Given the description of an element on the screen output the (x, y) to click on. 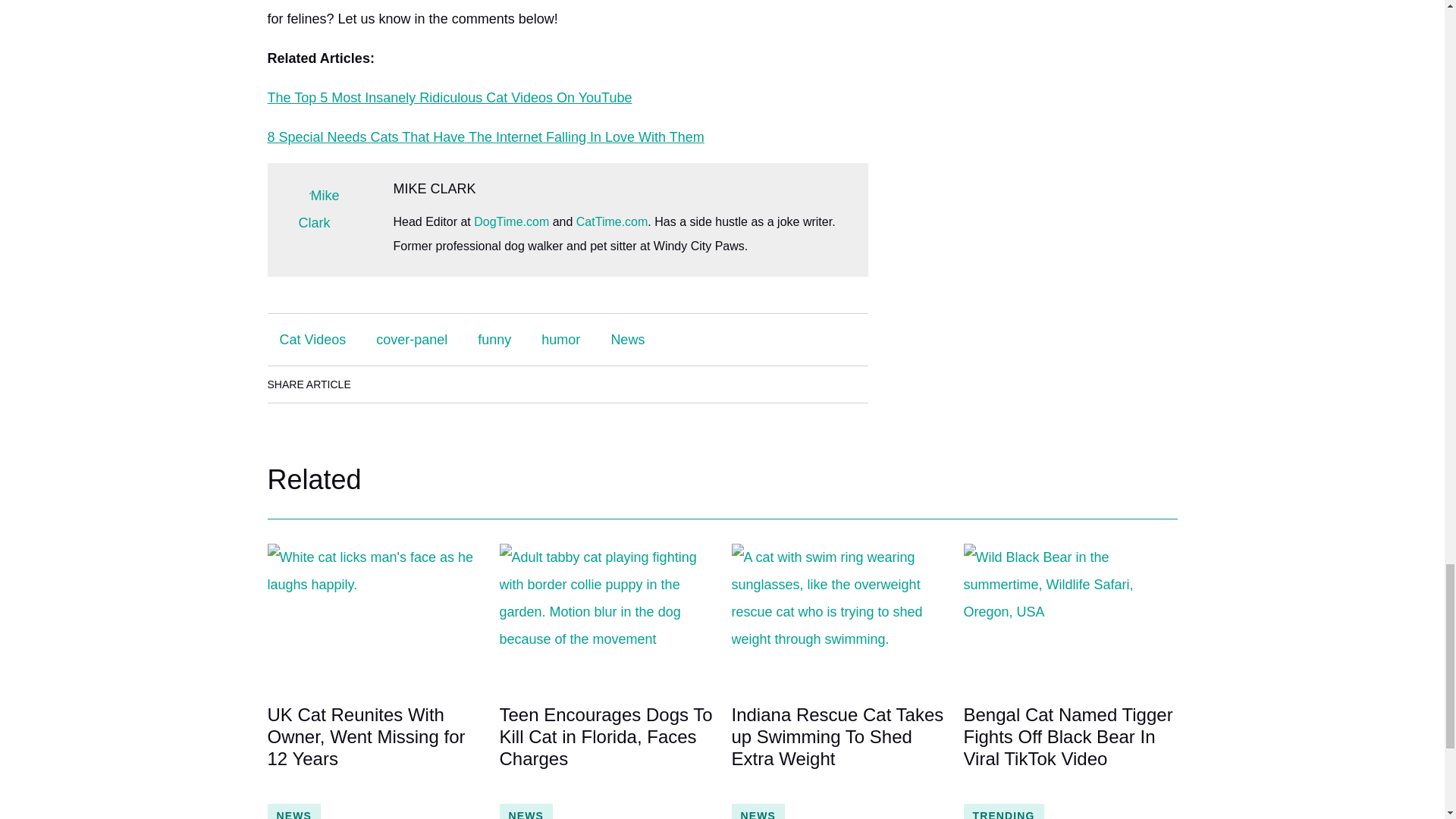
The Top 5 Most Insanely Ridiculous Cat Videos On YouTube (448, 97)
Teen Encourages Dogs To Kill Cat in Florida, Faces Charges (606, 747)
Teen Encourages Dogs To Kill Cat in Florida, Faces Charges (606, 614)
UK Cat Reunites With Owner, Went Missing for 12 Years (373, 614)
Indiana Rescue Cat Takes up Swimming To Shed Extra Weight (837, 614)
Indiana Rescue Cat Takes up Swimming To Shed Extra Weight (837, 747)
UK Cat Reunites With Owner, Went Missing for 12 Years (373, 747)
